Given the description of an element on the screen output the (x, y) to click on. 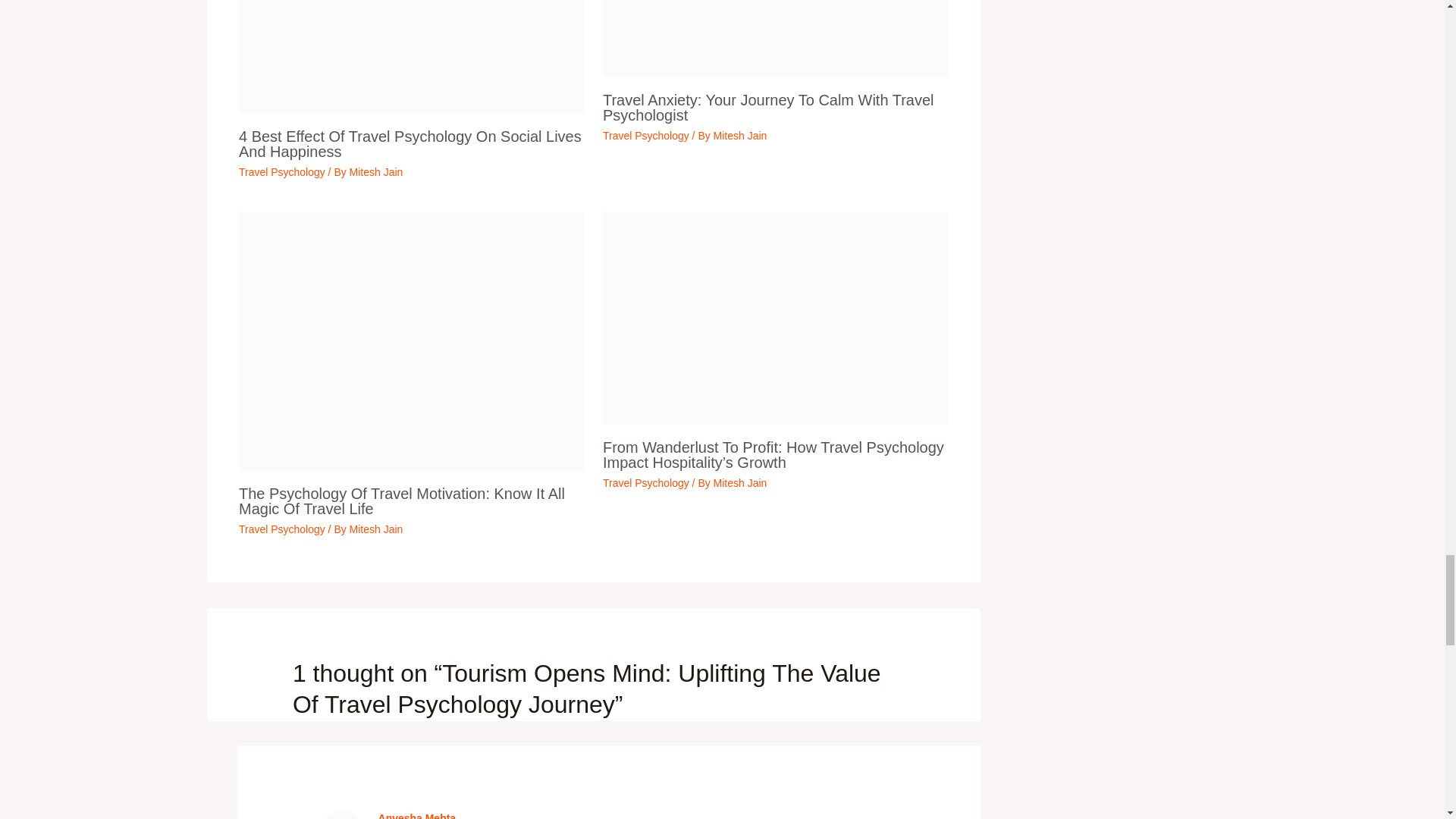
View all posts by Mitesh Jain (740, 135)
View all posts by Mitesh Jain (740, 482)
View all posts by Mitesh Jain (376, 529)
View all posts by Mitesh Jain (376, 172)
